Given the description of an element on the screen output the (x, y) to click on. 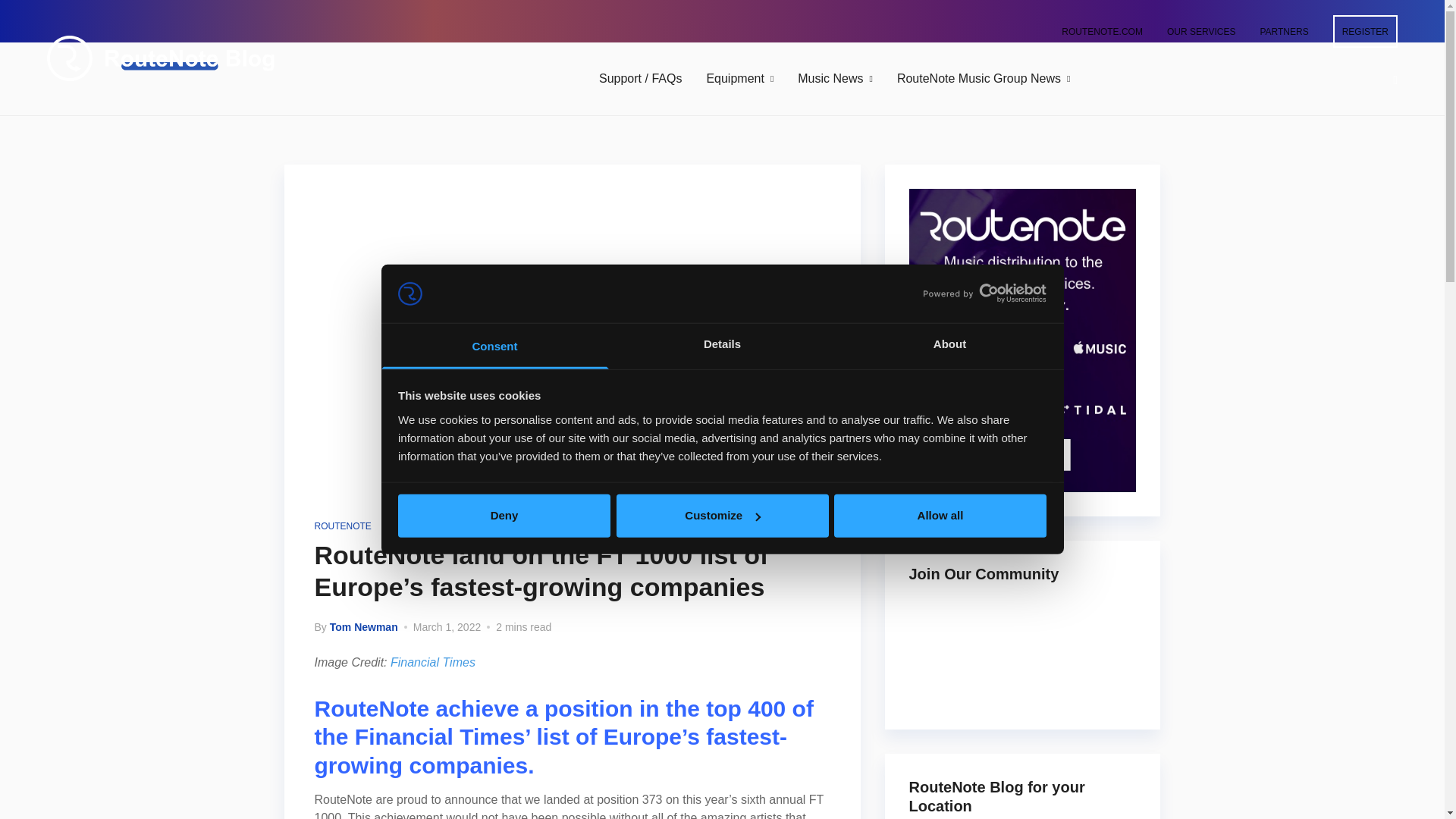
About (948, 346)
Consent (494, 346)
Details (721, 346)
